Given the description of an element on the screen output the (x, y) to click on. 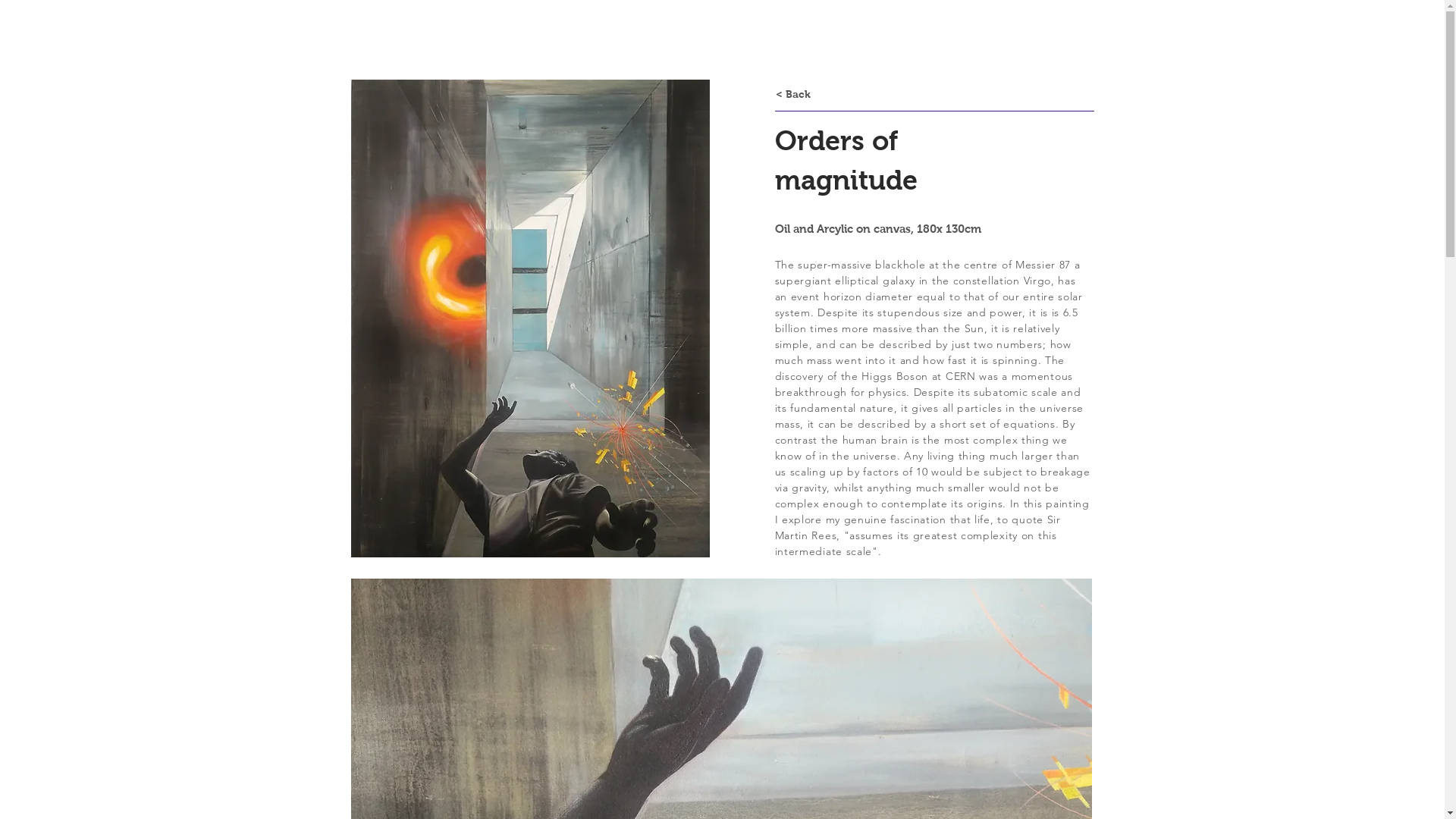
Paintings Element type: text (995, 60)
Home Element type: text (932, 60)
< Back Element type: text (792, 94)
Contact Element type: text (1061, 60)
